Given the description of an element on the screen output the (x, y) to click on. 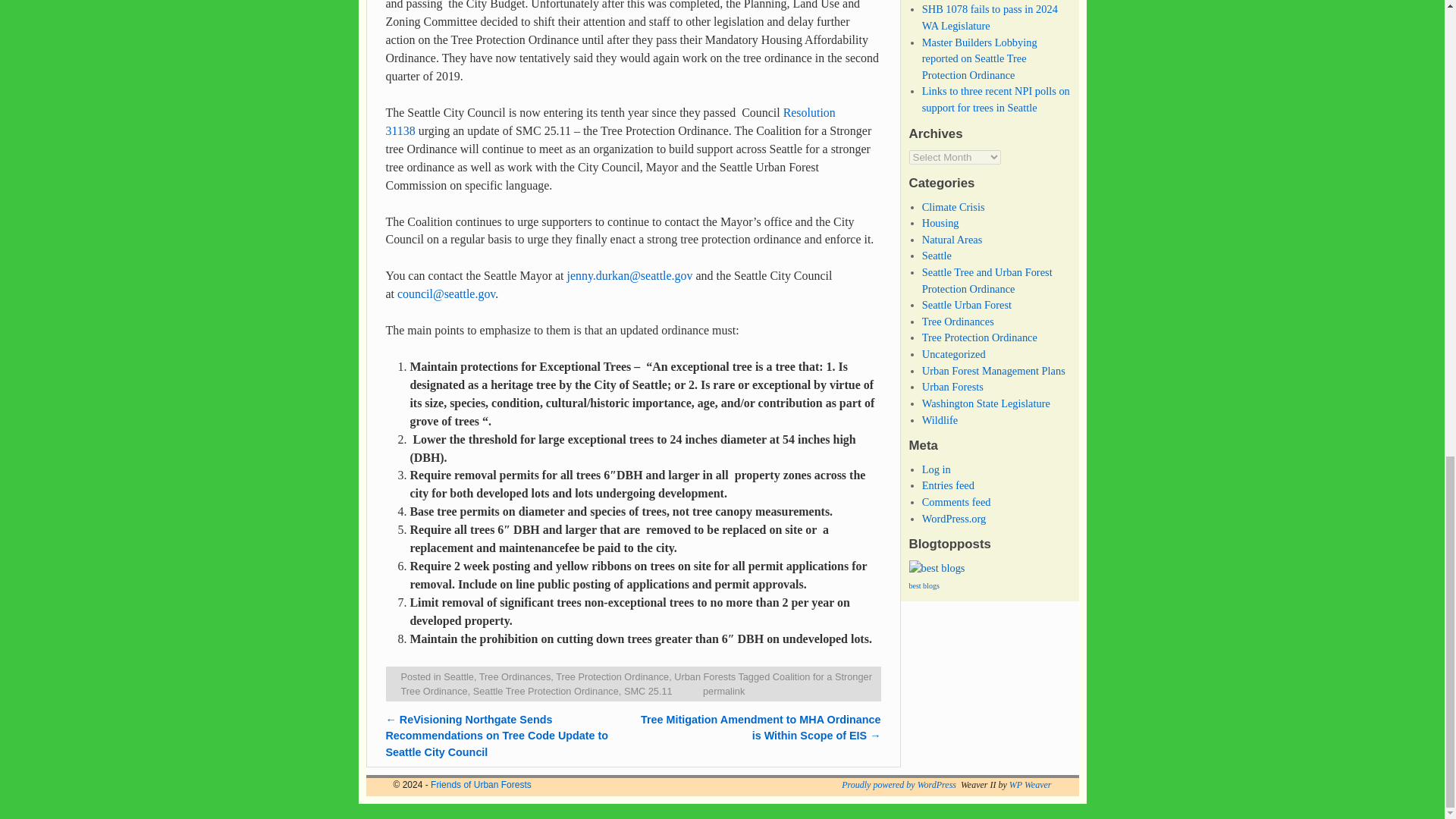
wordpress.org (898, 784)
Friends of  Urban Forests (480, 784)
Resolution 31138 (609, 121)
